Given the description of an element on the screen output the (x, y) to click on. 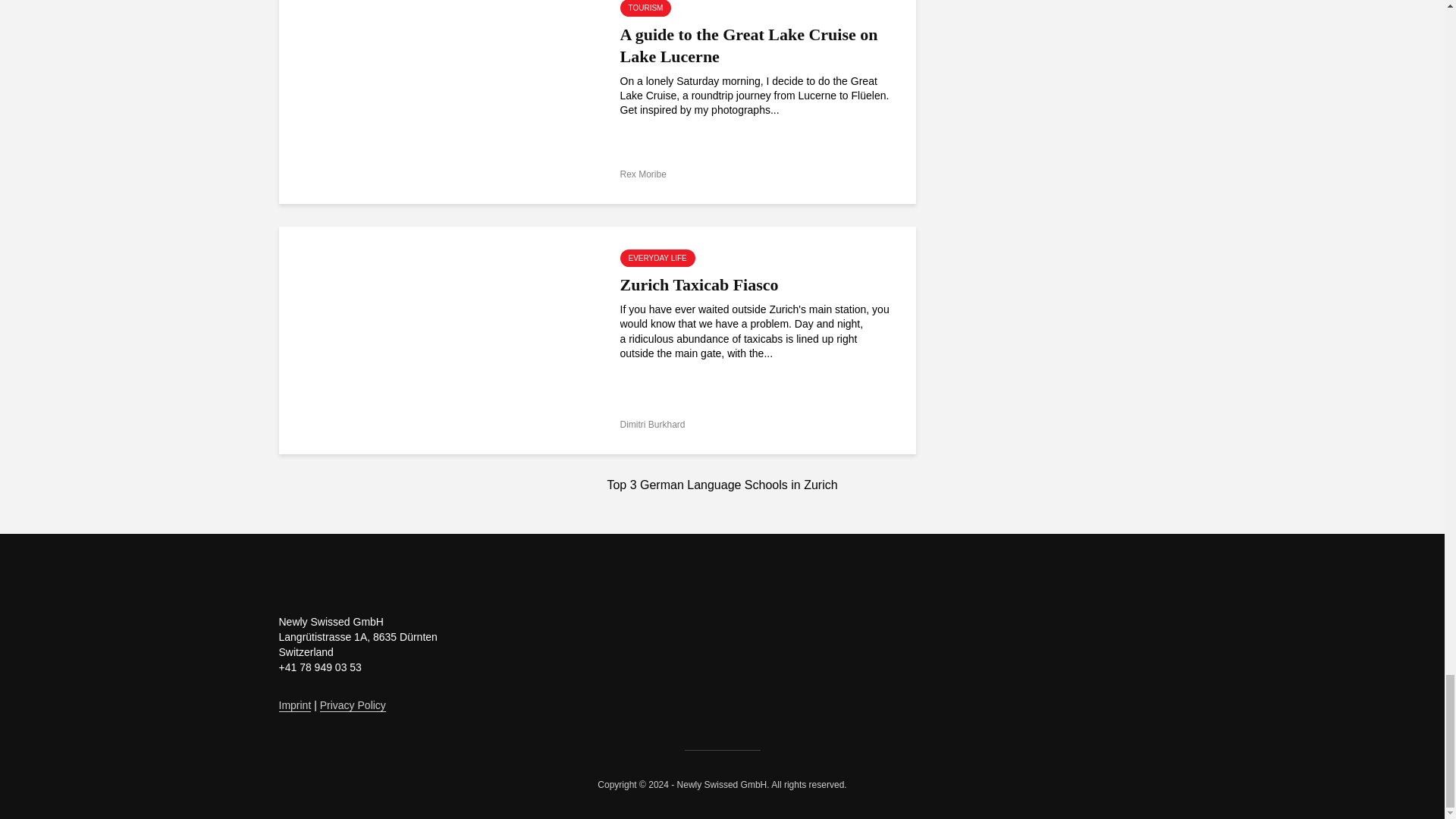
Zurich Taxicab Fiasco (437, 339)
A guide to the Great Lake Cruise on Lake Lucerne (437, 89)
